Given the description of an element on the screen output the (x, y) to click on. 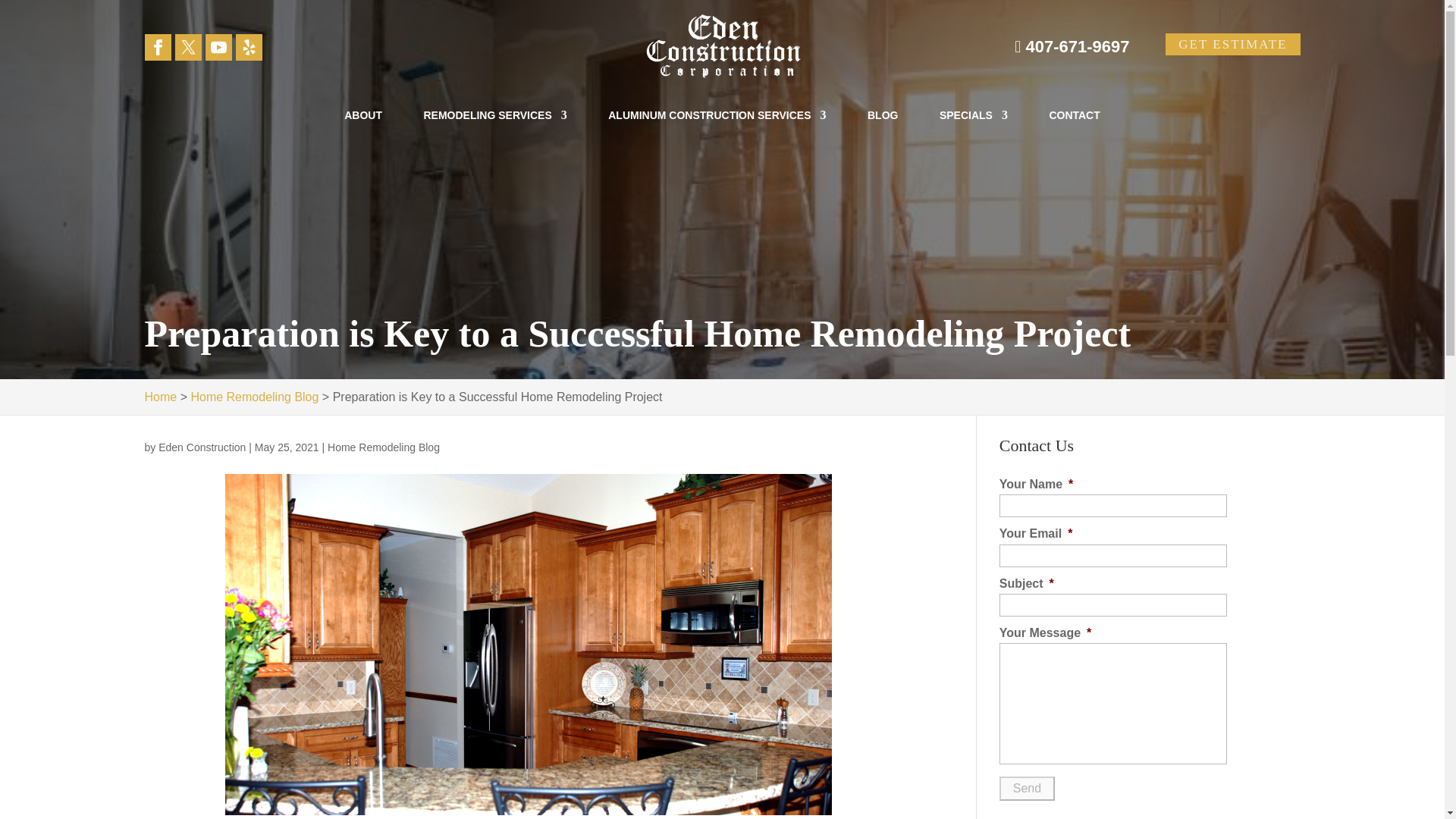
ALUMINUM CONSTRUCTION SERVICES (716, 124)
REMODELING SERVICES (494, 124)
Twitter (187, 47)
YouTube (219, 47)
SPECIALS (973, 124)
YouTube (218, 47)
CONTACT (1073, 124)
Go to the Home Remodeling Blog category archives. (254, 396)
Facebook (157, 47)
Twitter (188, 47)
Home Remodeling Blog (383, 447)
407-671-9697 (1071, 46)
GET ESTIMATE (1233, 44)
Home Remodeling Blog (254, 396)
BLOG (882, 124)
